Given the description of an element on the screen output the (x, y) to click on. 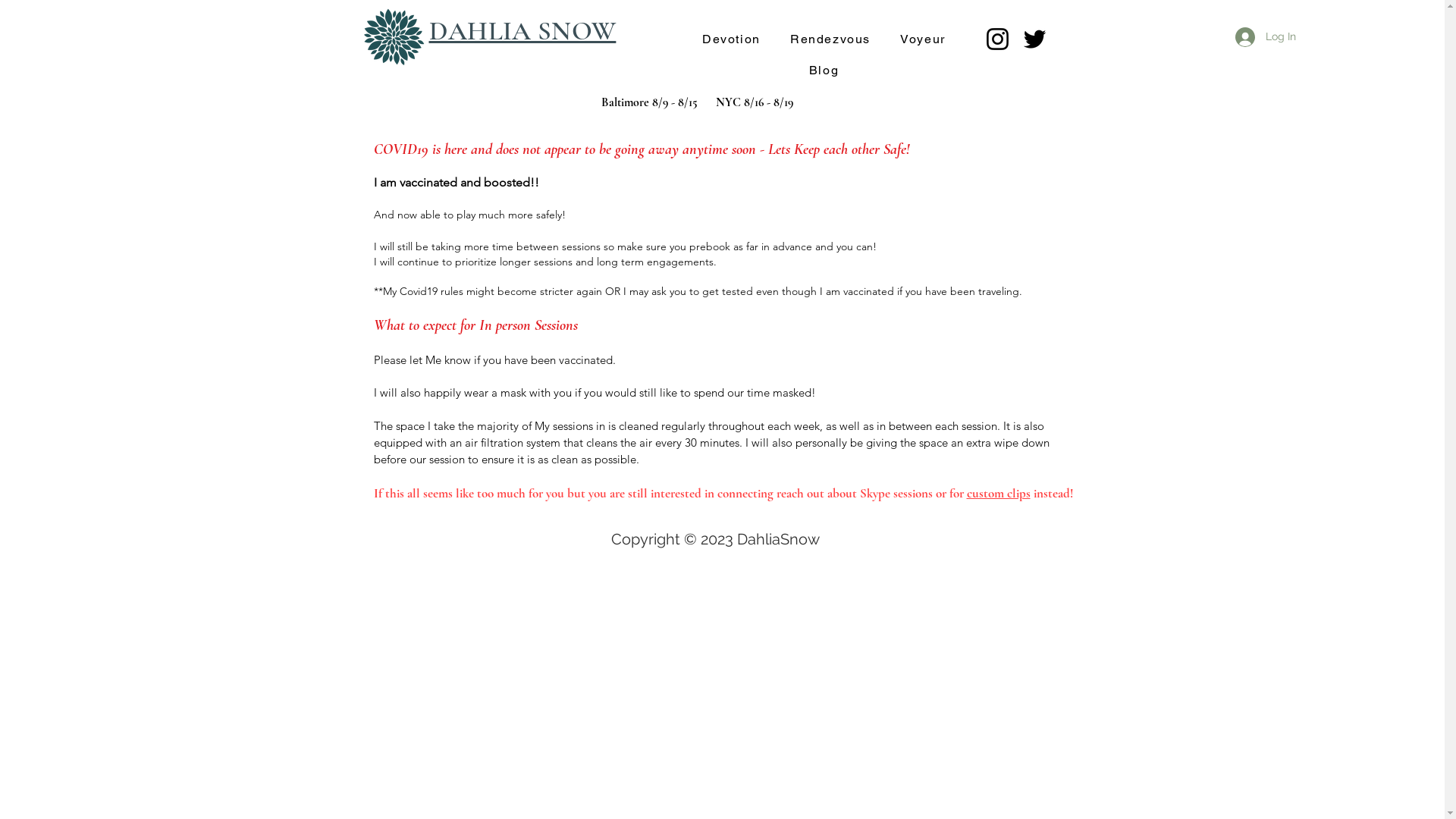
Blog Element type: text (823, 70)
DAHLIA SNOW Element type: text (522, 32)
custom clips Element type: text (997, 493)
Log In Element type: text (1261, 36)
Voyeur Element type: text (922, 39)
